Given the description of an element on the screen output the (x, y) to click on. 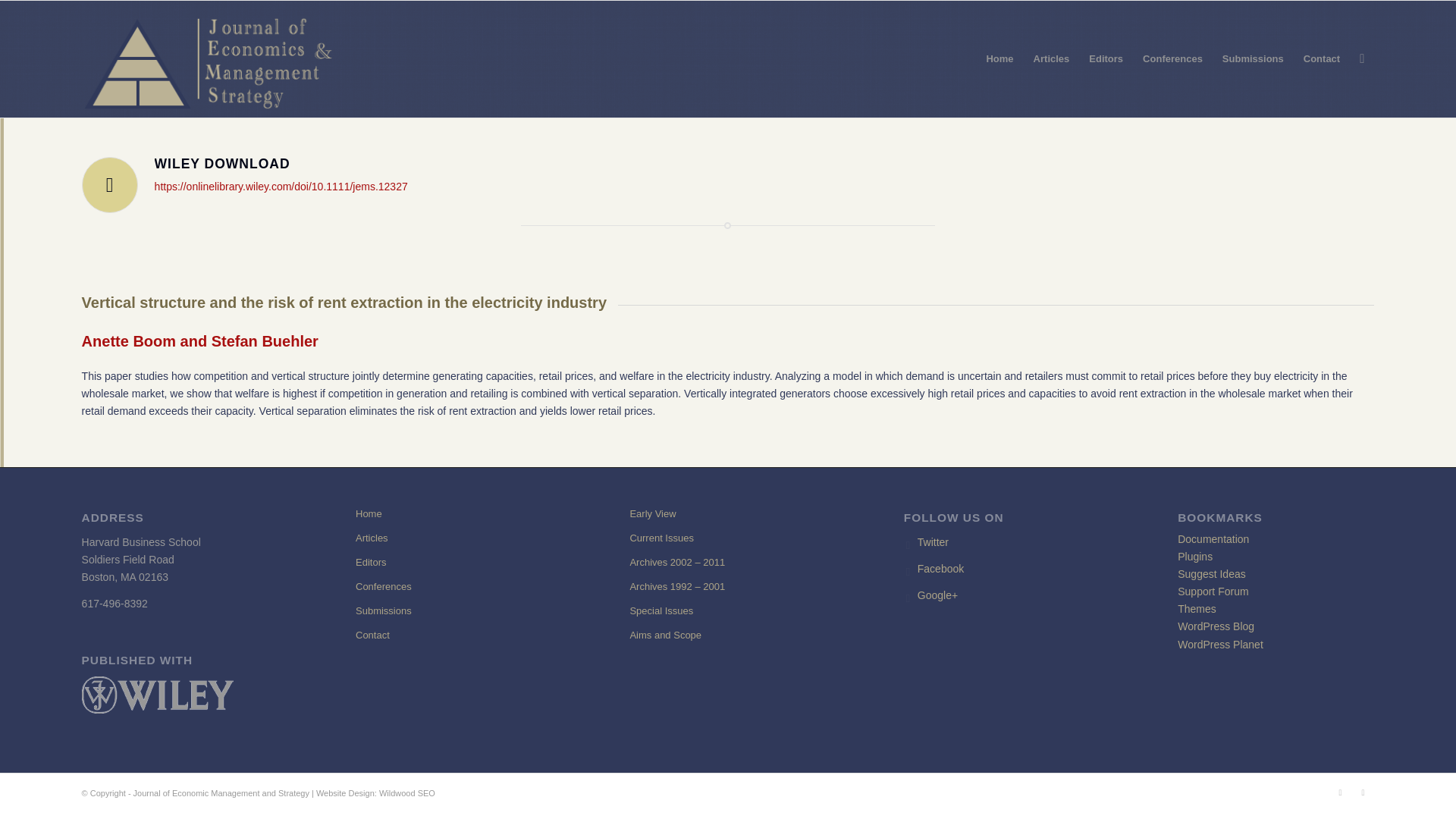
Suggest Ideas (1211, 573)
Themes (1196, 608)
Plugins (1194, 556)
Articles (453, 538)
Conferences (453, 586)
Twitter (933, 541)
Submissions (453, 610)
WordPress Planet (1220, 644)
Documentation (1213, 539)
